Given the description of an element on the screen output the (x, y) to click on. 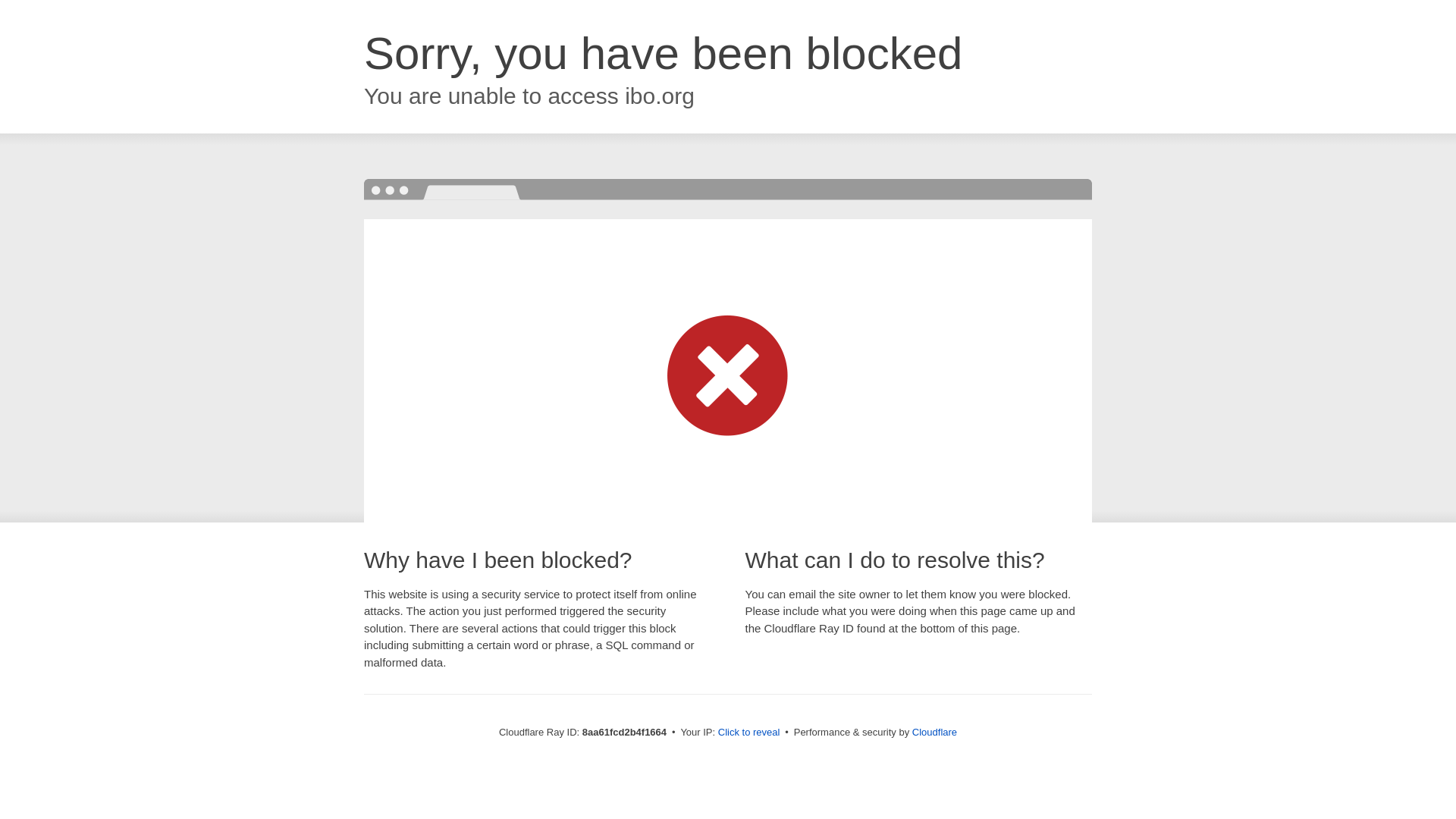
Click to reveal (748, 732)
Cloudflare (934, 731)
